Given the description of an element on the screen output the (x, y) to click on. 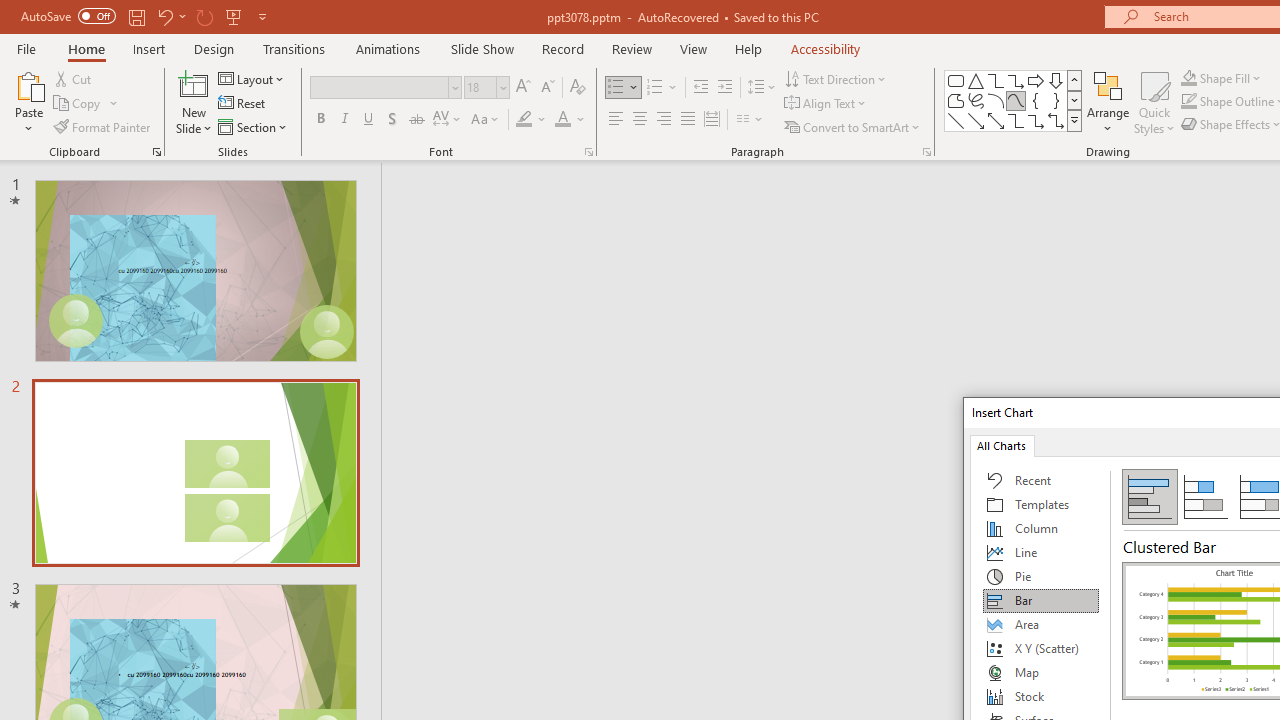
X Y (Scatter) (1041, 648)
Font... (588, 151)
Italic (344, 119)
Shadow (392, 119)
Text Direction (836, 78)
Connector: Elbow Double-Arrow (1055, 120)
Recent (1041, 480)
Strikethrough (416, 119)
Convert to SmartArt (853, 126)
